Given the description of an element on the screen output the (x, y) to click on. 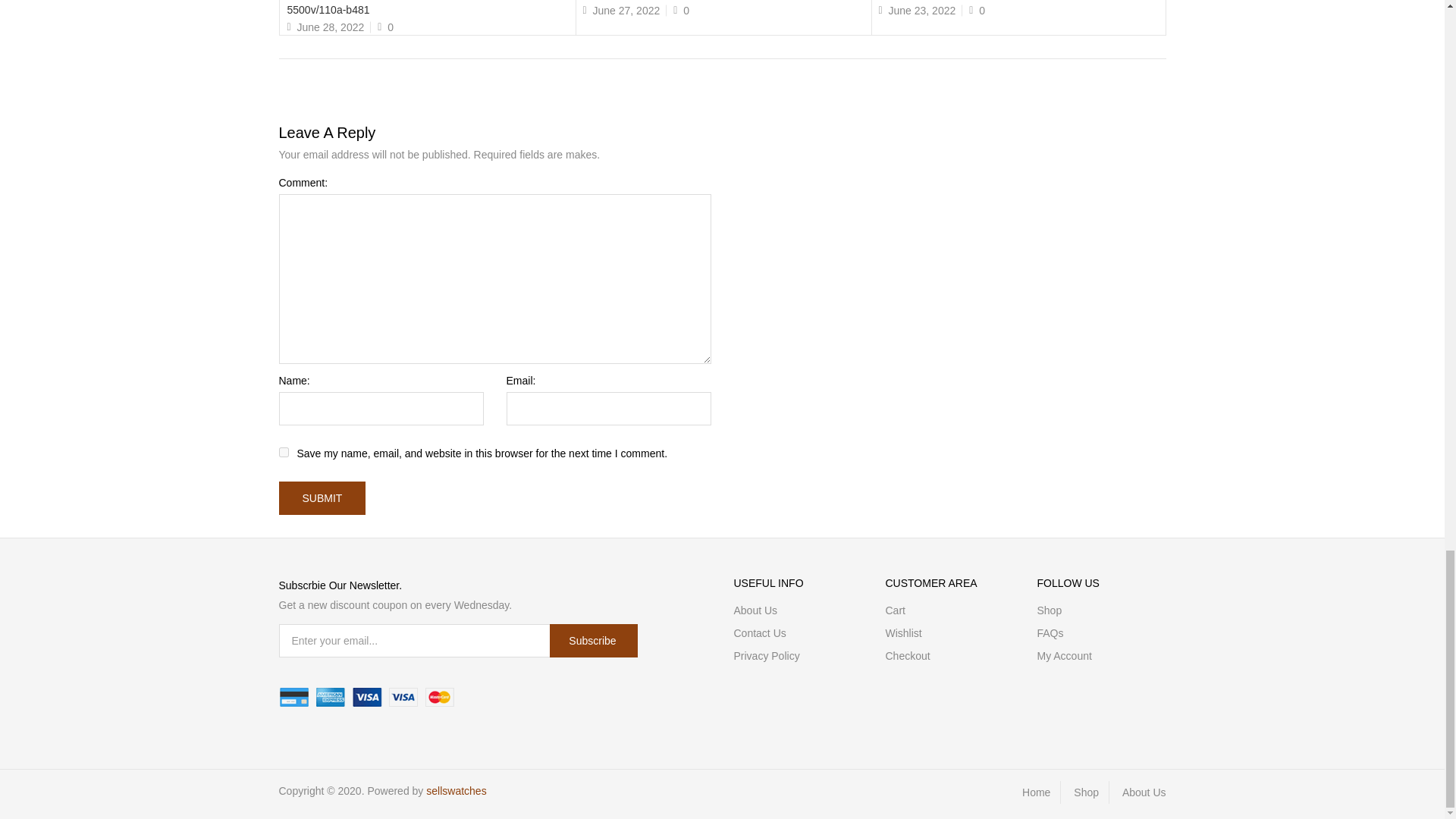
payments (366, 696)
yes (283, 452)
subscribe (593, 640)
submit (322, 498)
